Given the description of an element on the screen output the (x, y) to click on. 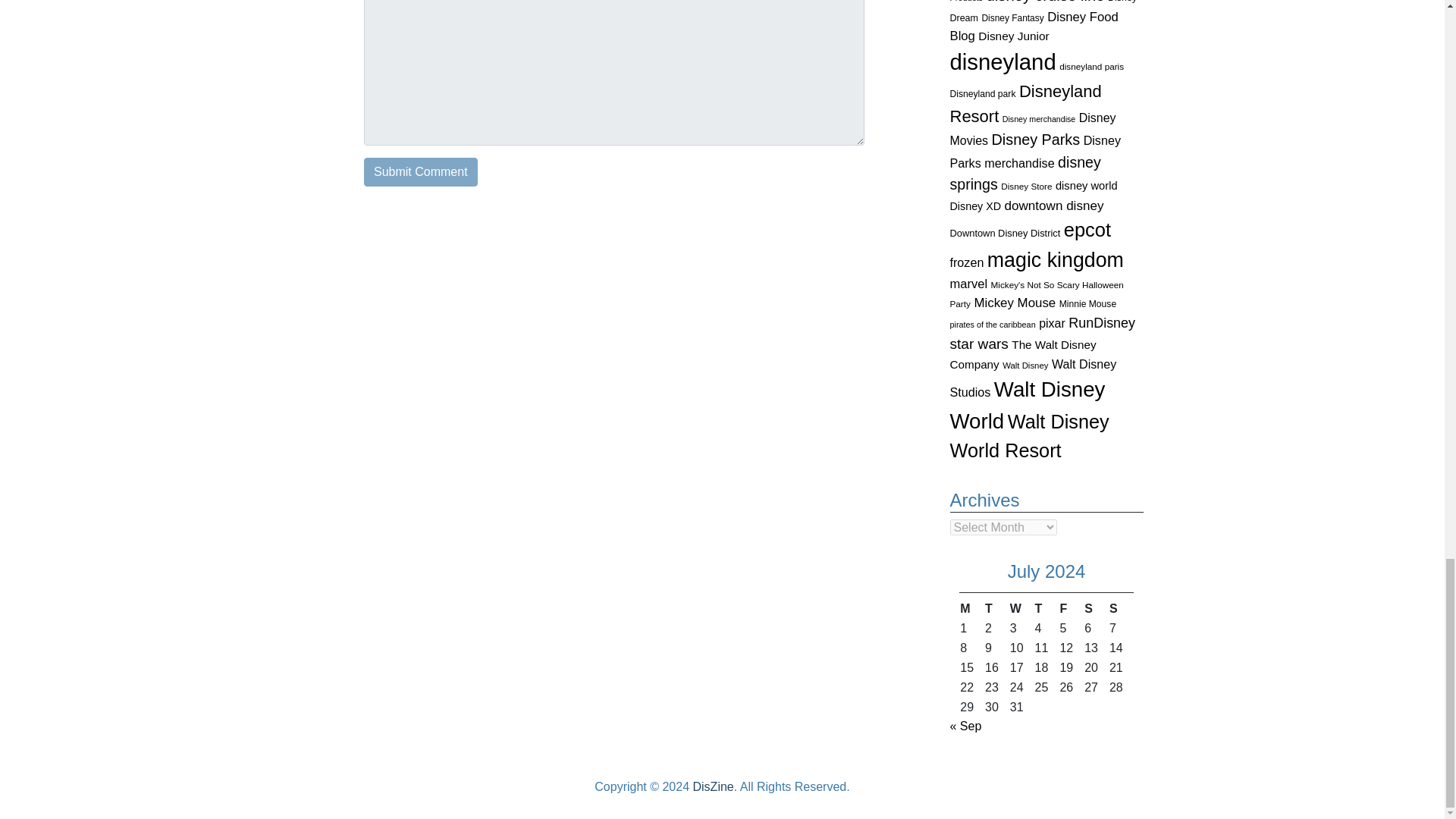
Friday (1070, 608)
Tuesday (996, 608)
Saturday (1095, 608)
Thursday (1046, 608)
Monday (971, 608)
Wednesday (1021, 608)
Sunday (1121, 608)
Submit Comment (420, 172)
